Given the description of an element on the screen output the (x, y) to click on. 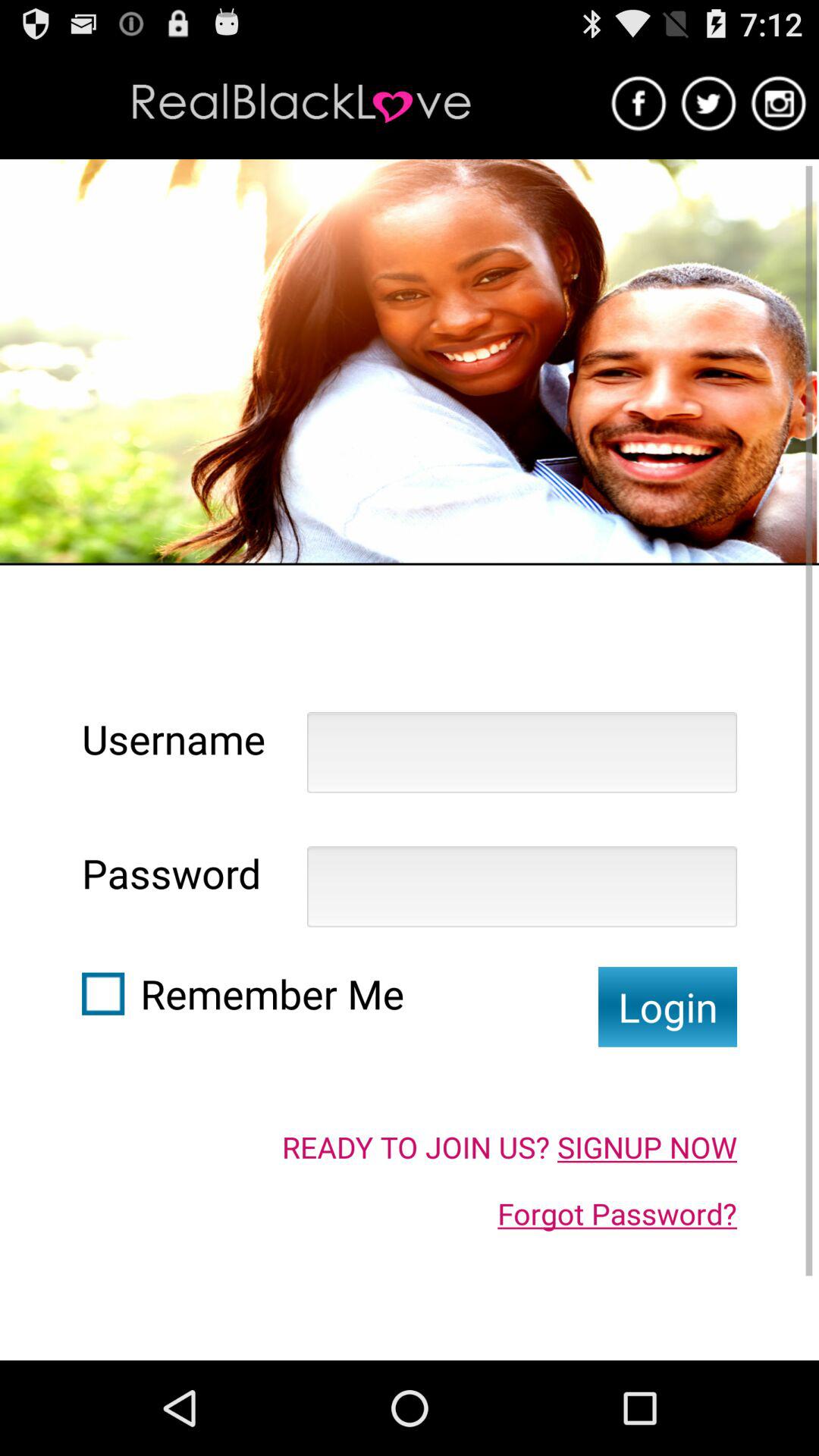
scroll until the forgot password? item (617, 1213)
